Given the description of an element on the screen output the (x, y) to click on. 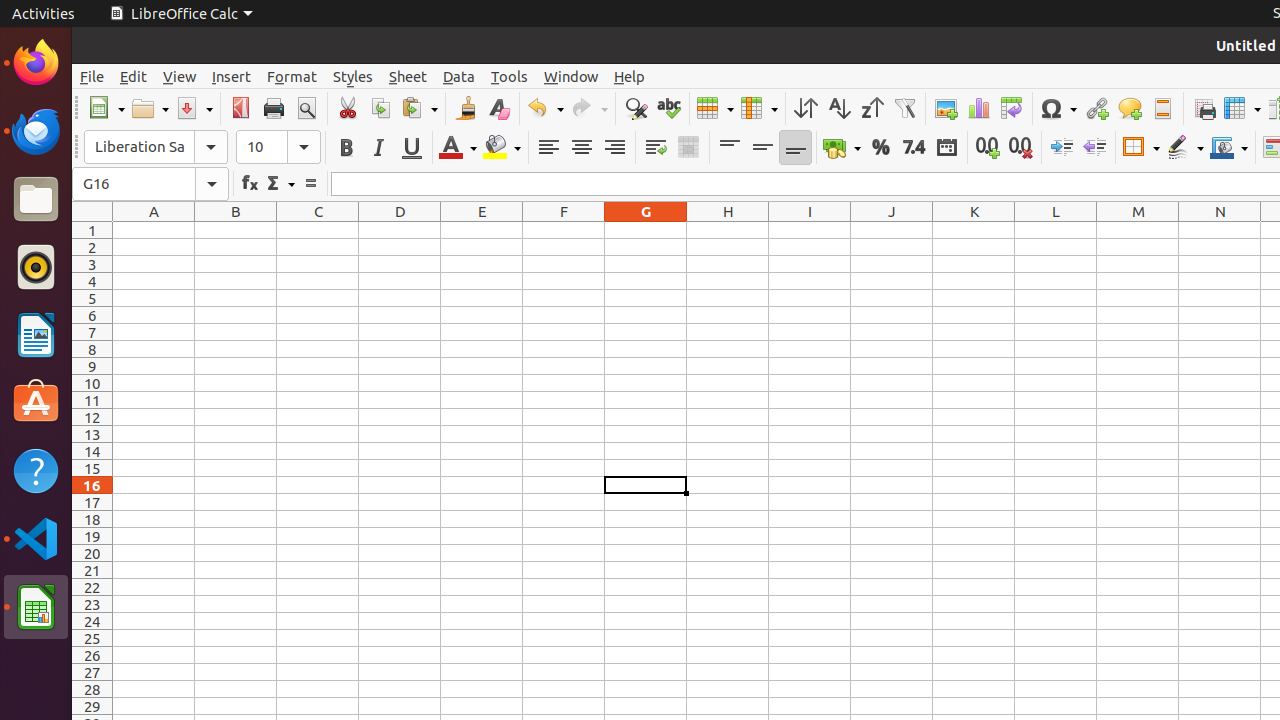
N1 Element type: table-cell (1220, 230)
Center Vertically Element type: push-button (762, 147)
Thunderbird Mail Element type: push-button (36, 131)
Symbol Element type: push-button (1058, 108)
C1 Element type: table-cell (318, 230)
